Given the description of an element on the screen output the (x, y) to click on. 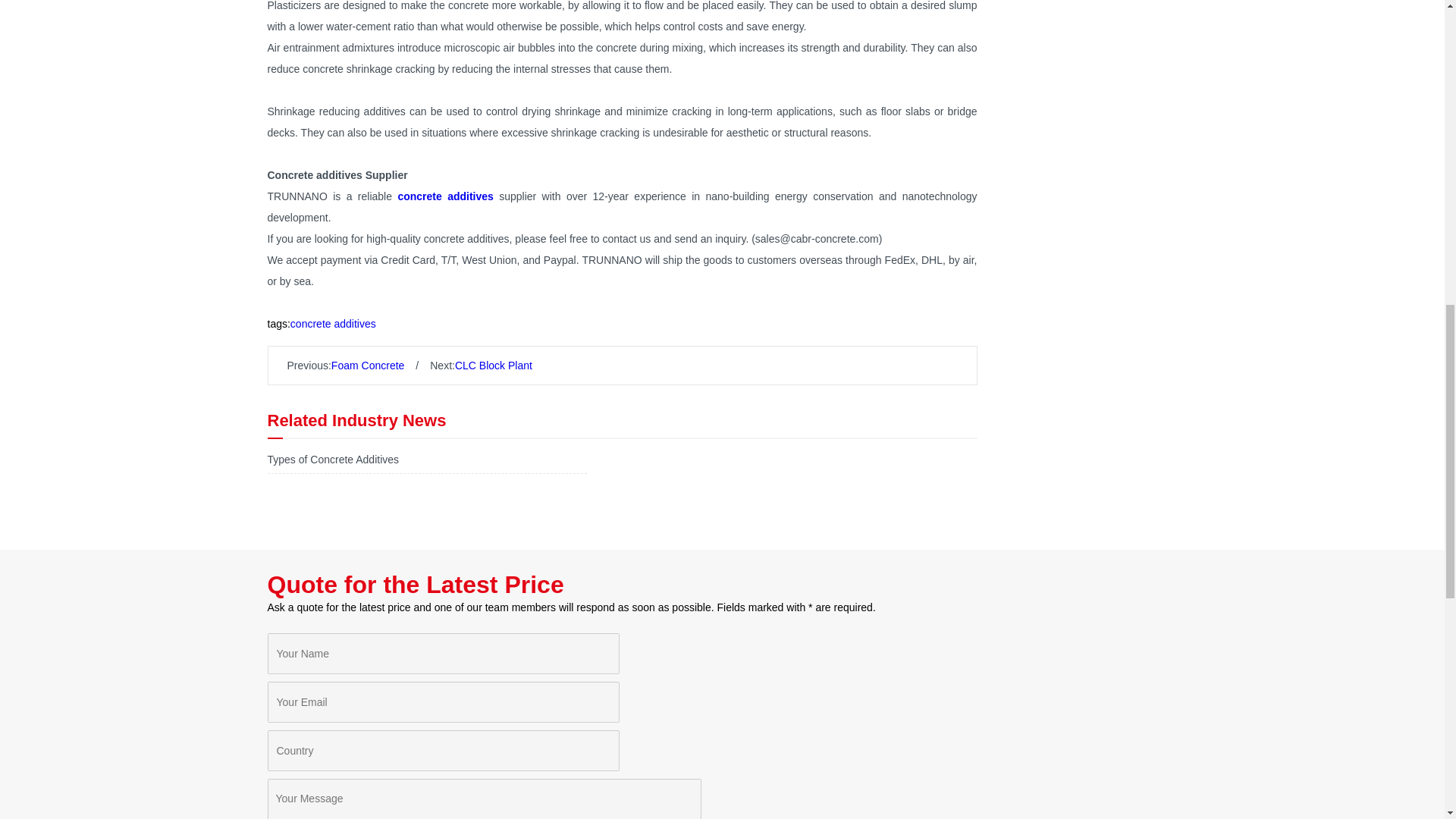
concrete additives     (338, 323)
Foam Concrete (367, 365)
Types of Concrete Additives (332, 459)
CLC Block Plant (493, 365)
concrete additives (445, 196)
